Given the description of an element on the screen output the (x, y) to click on. 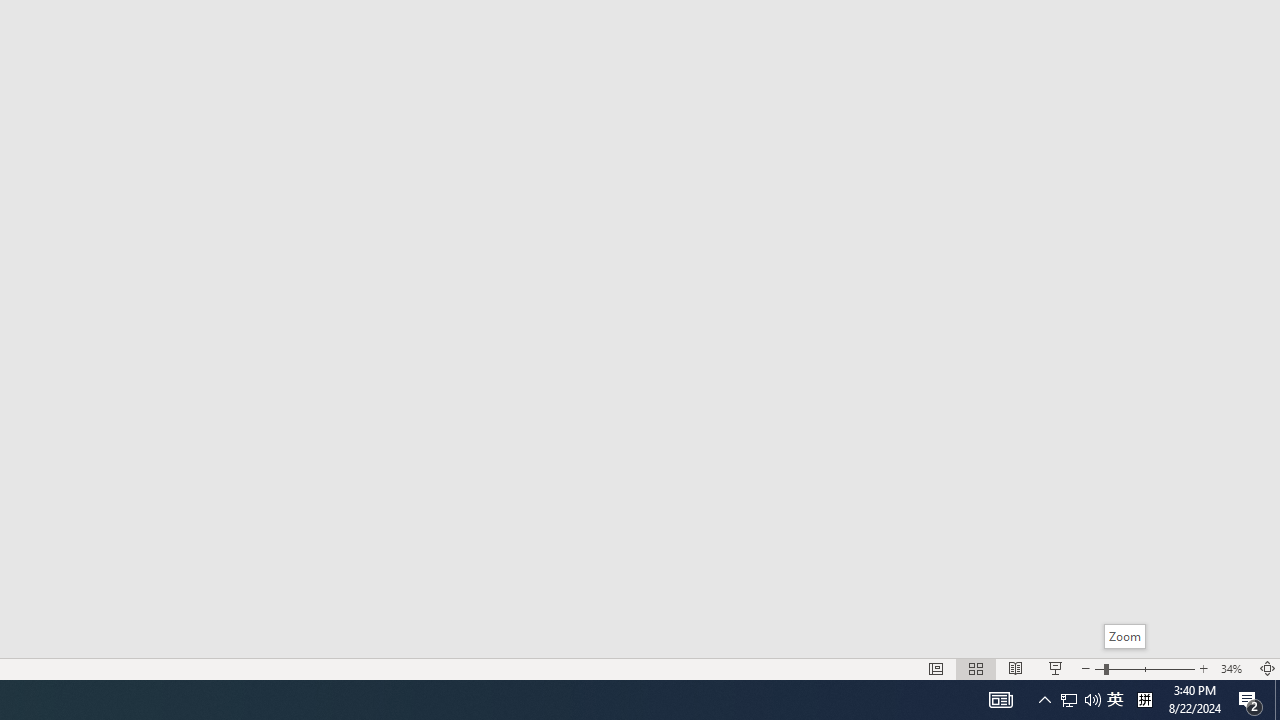
Zoom 34% (1234, 668)
